Given the description of an element on the screen output the (x, y) to click on. 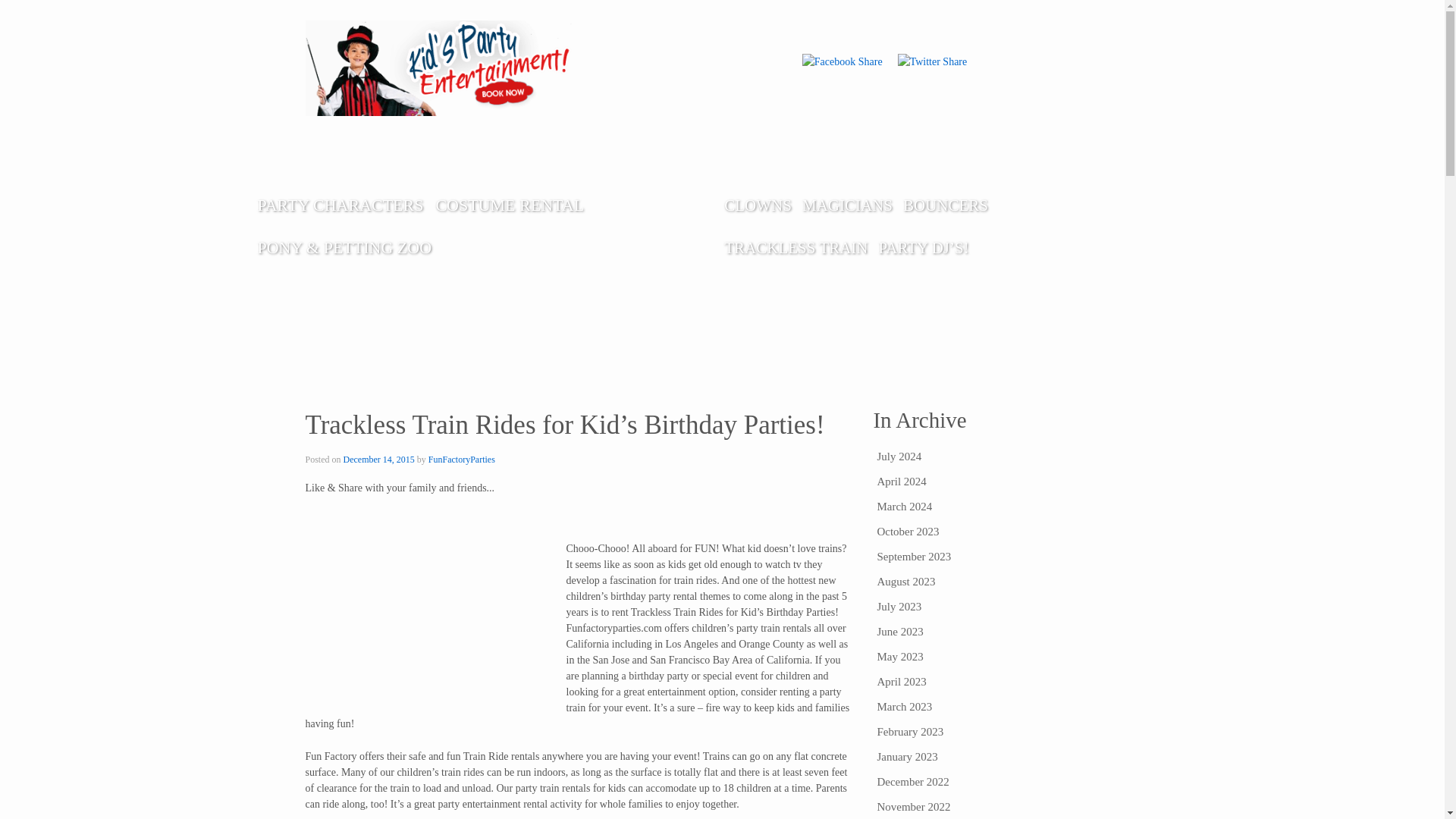
December 14, 2015 (378, 459)
MAGICIANS (847, 205)
train rides rentals Birthday parties san jose san francisco (757, 817)
TRACKLESS TRAIN (795, 247)
FunFactoryParties (461, 459)
View all posts by FunFactoryParties (461, 459)
PARTY CHARACTERS (340, 205)
COSTUME RENTAL (509, 205)
CLOWNS (757, 205)
BOUNCERS (945, 205)
